Given the description of an element on the screen output the (x, y) to click on. 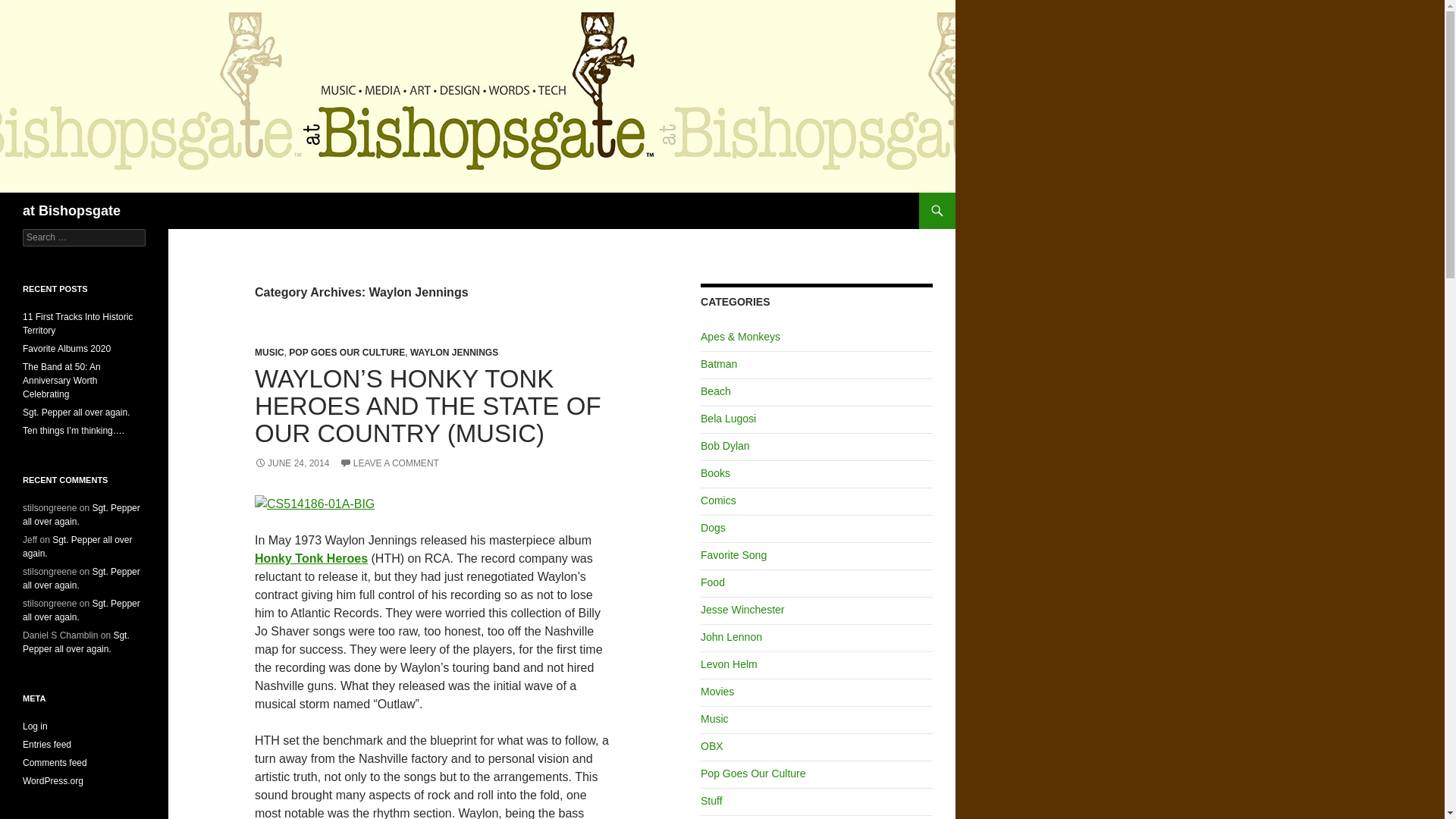
Batman (718, 363)
Bela Lugosi (727, 418)
Honky Tonk Heroes (311, 558)
JUNE 24, 2014 (291, 462)
WAYLON JENNINGS (453, 352)
Beach (715, 390)
Bob Dylan (724, 445)
POP GOES OUR CULTURE (346, 352)
